Given the description of an element on the screen output the (x, y) to click on. 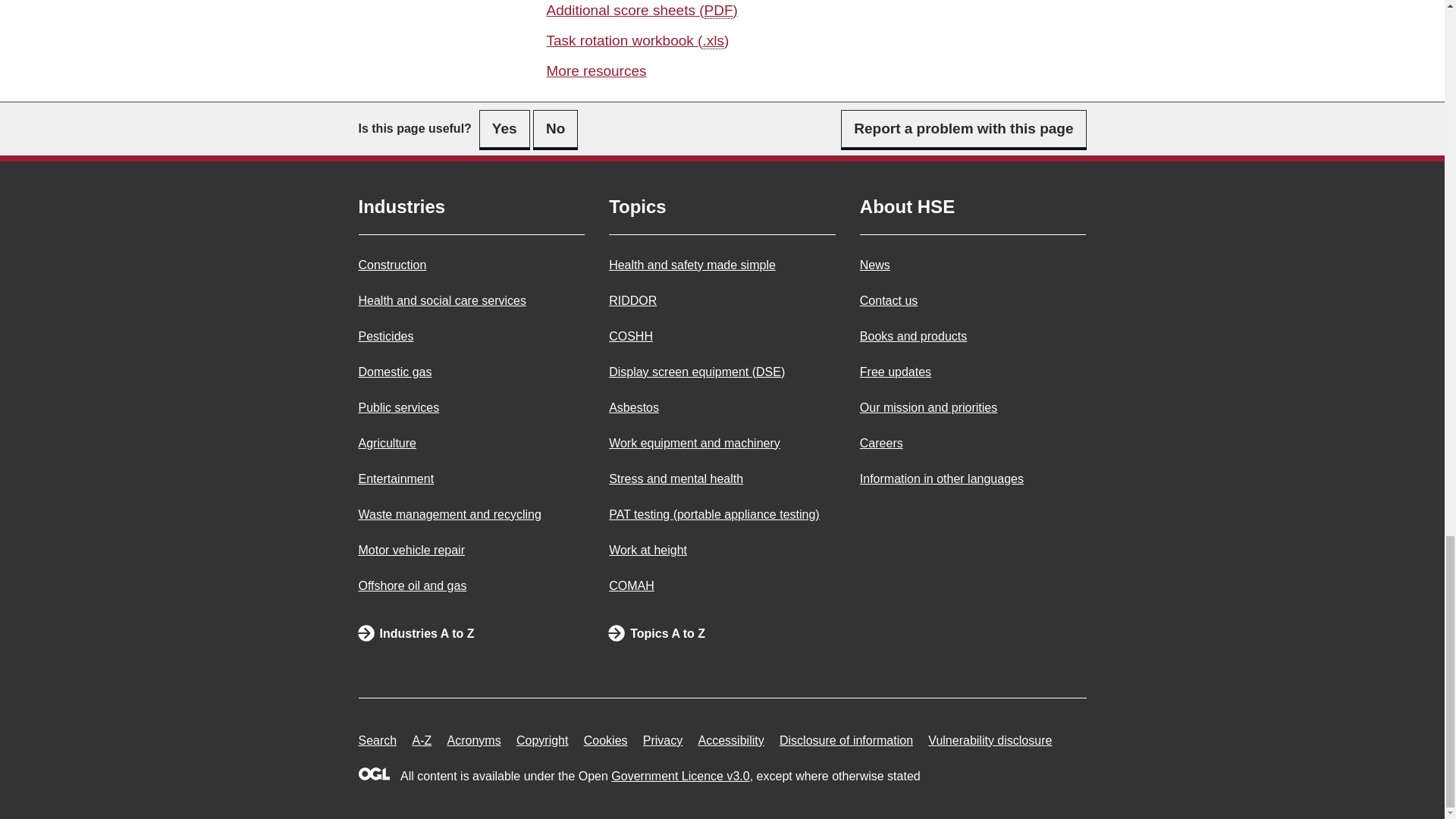
Microsoft Excel spreadsheet (712, 40)
Portable Document Format (718, 10)
